Given the description of an element on the screen output the (x, y) to click on. 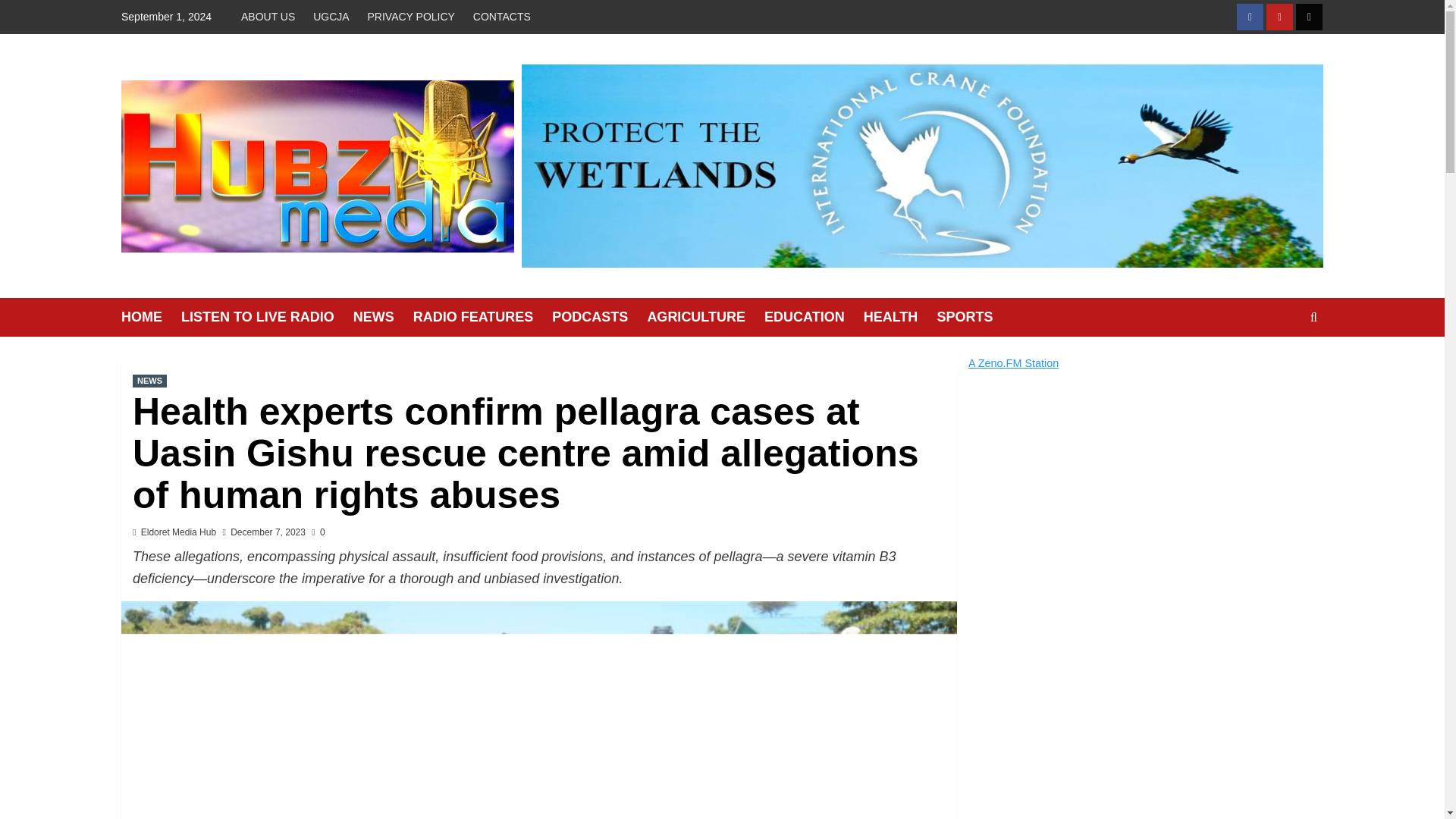
UGCJA (330, 17)
PODCASTS (598, 317)
CONTACTS (501, 17)
EDUCATION (813, 317)
HOME (150, 317)
FACEBOOK (1249, 17)
YOUTUBE (1279, 17)
HEALTH (900, 317)
TWITTER (1308, 17)
December 7, 2023 (267, 532)
